Given the description of an element on the screen output the (x, y) to click on. 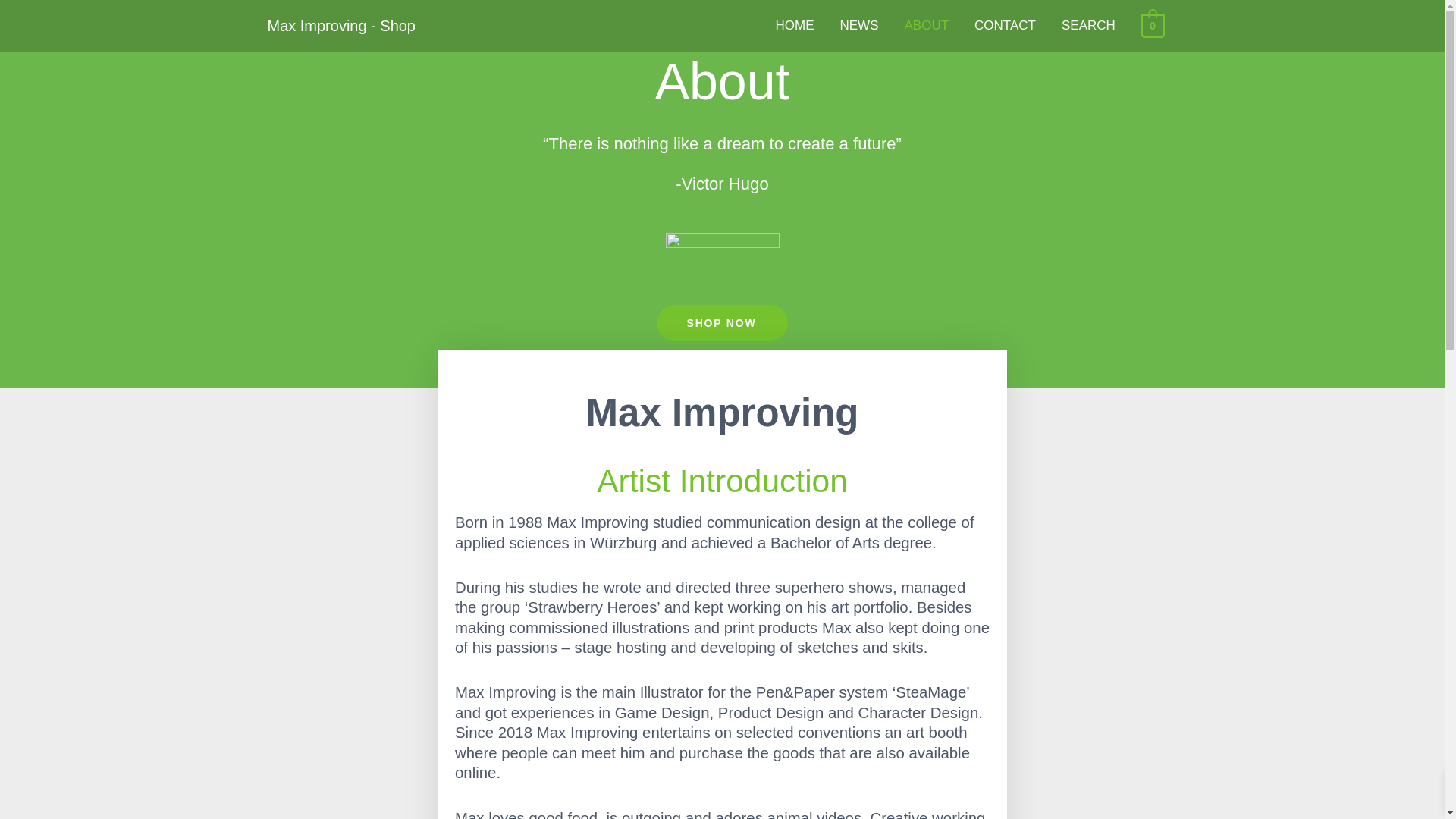
Max Improving - Shop (340, 25)
SHOP NOW (722, 322)
CONTACT (1004, 25)
HOME (794, 25)
ABOUT (925, 25)
0 (1152, 25)
SEARCH (1088, 25)
NEWS (859, 25)
